Given the description of an element on the screen output the (x, y) to click on. 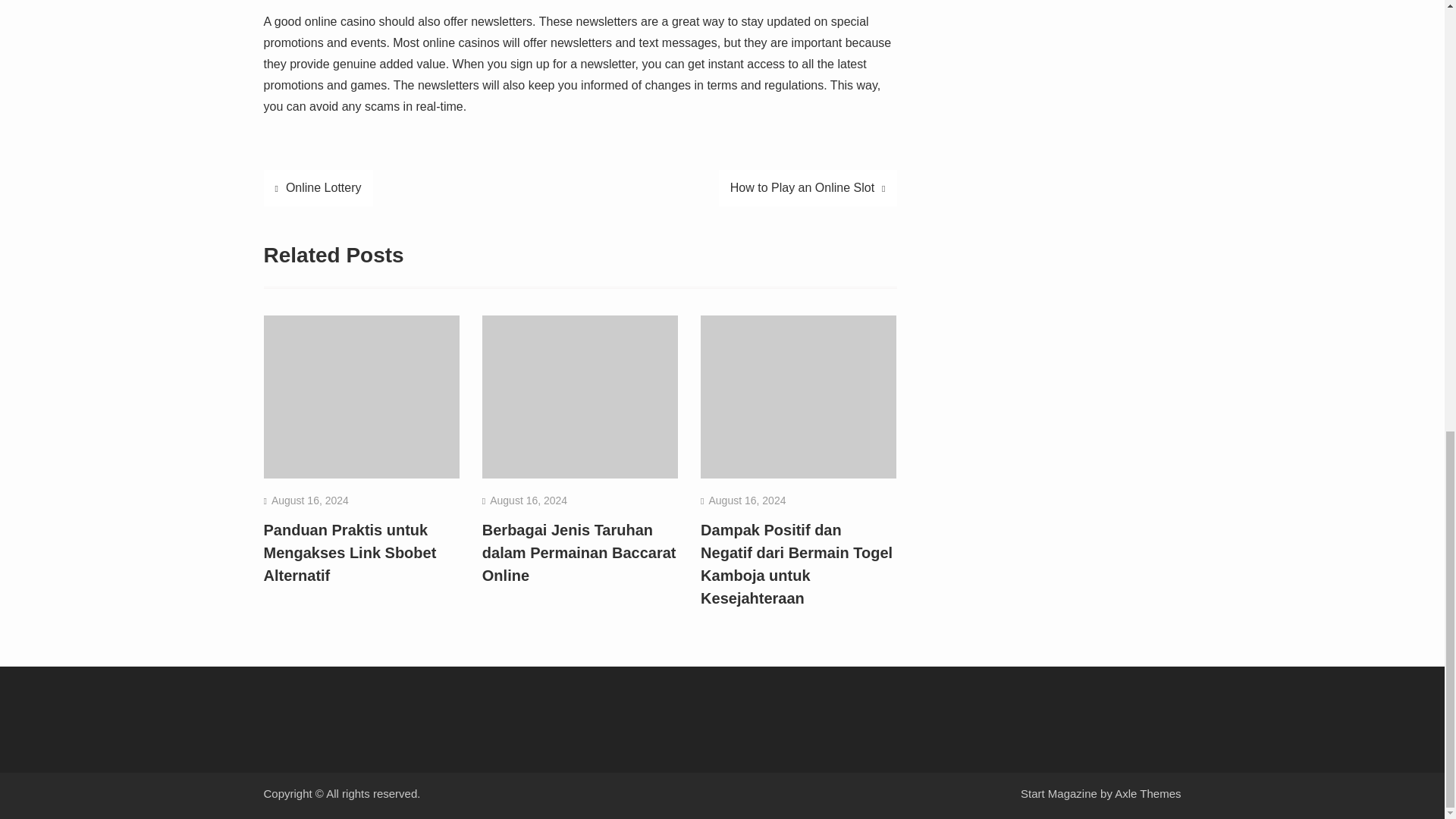
Panduan Praktis untuk Mengakses Link Sbobet Alternatif (349, 552)
Axle Themes (1147, 793)
How to Play an Online Slot (807, 187)
Berbagai Jenis Taruhan dalam Permainan Baccarat Online (579, 552)
Online Lottery (317, 187)
